Given the description of an element on the screen output the (x, y) to click on. 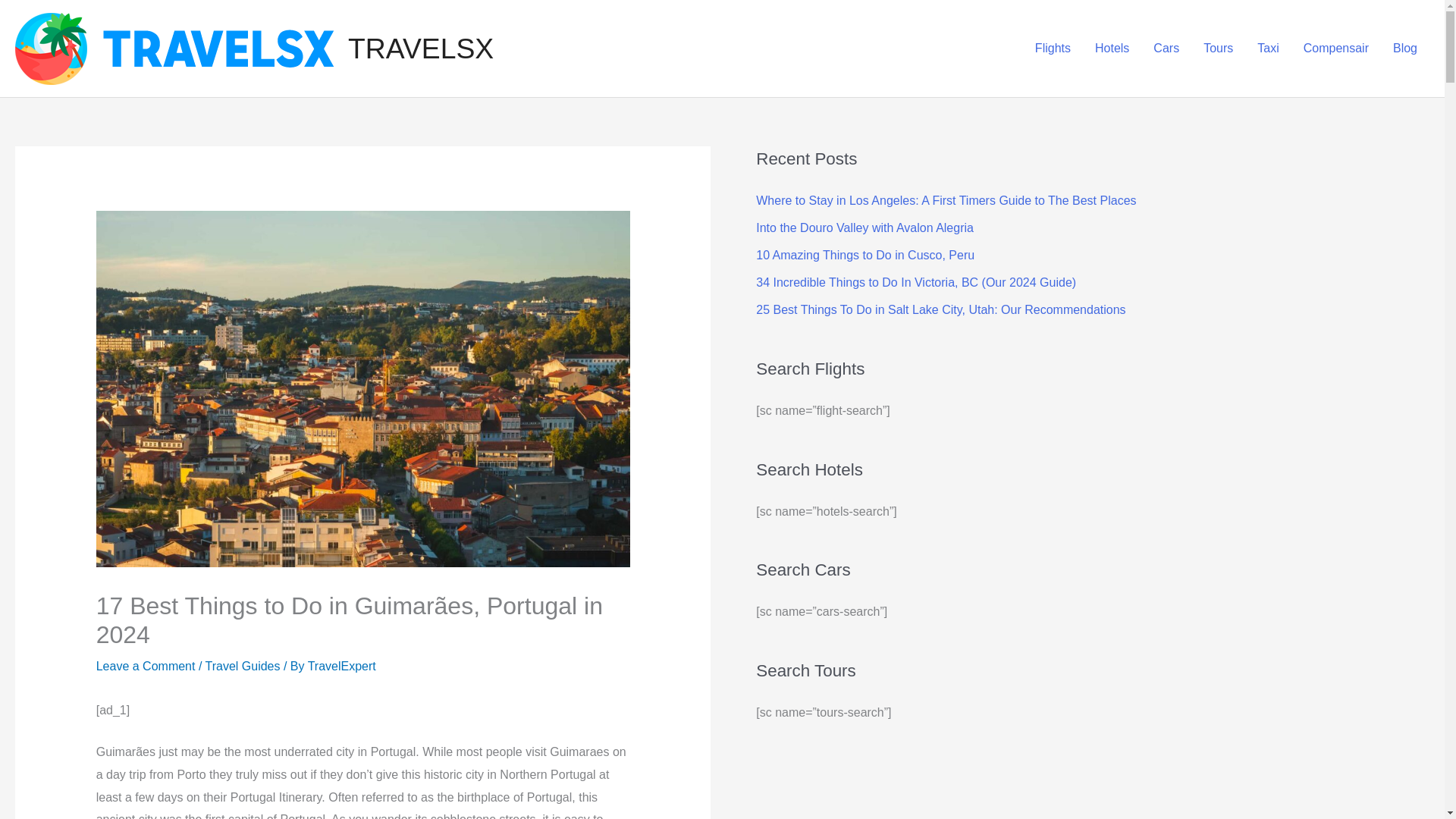
Cars (1166, 48)
View all posts by TravelExpert (341, 666)
Travel Guides (243, 666)
TravelExpert (341, 666)
Leave a Comment (145, 666)
Compensair (1335, 48)
Tours (1217, 48)
Blog (1404, 48)
Flights (1053, 48)
Hotels (1112, 48)
TRAVELSX (420, 48)
